Given the description of an element on the screen output the (x, y) to click on. 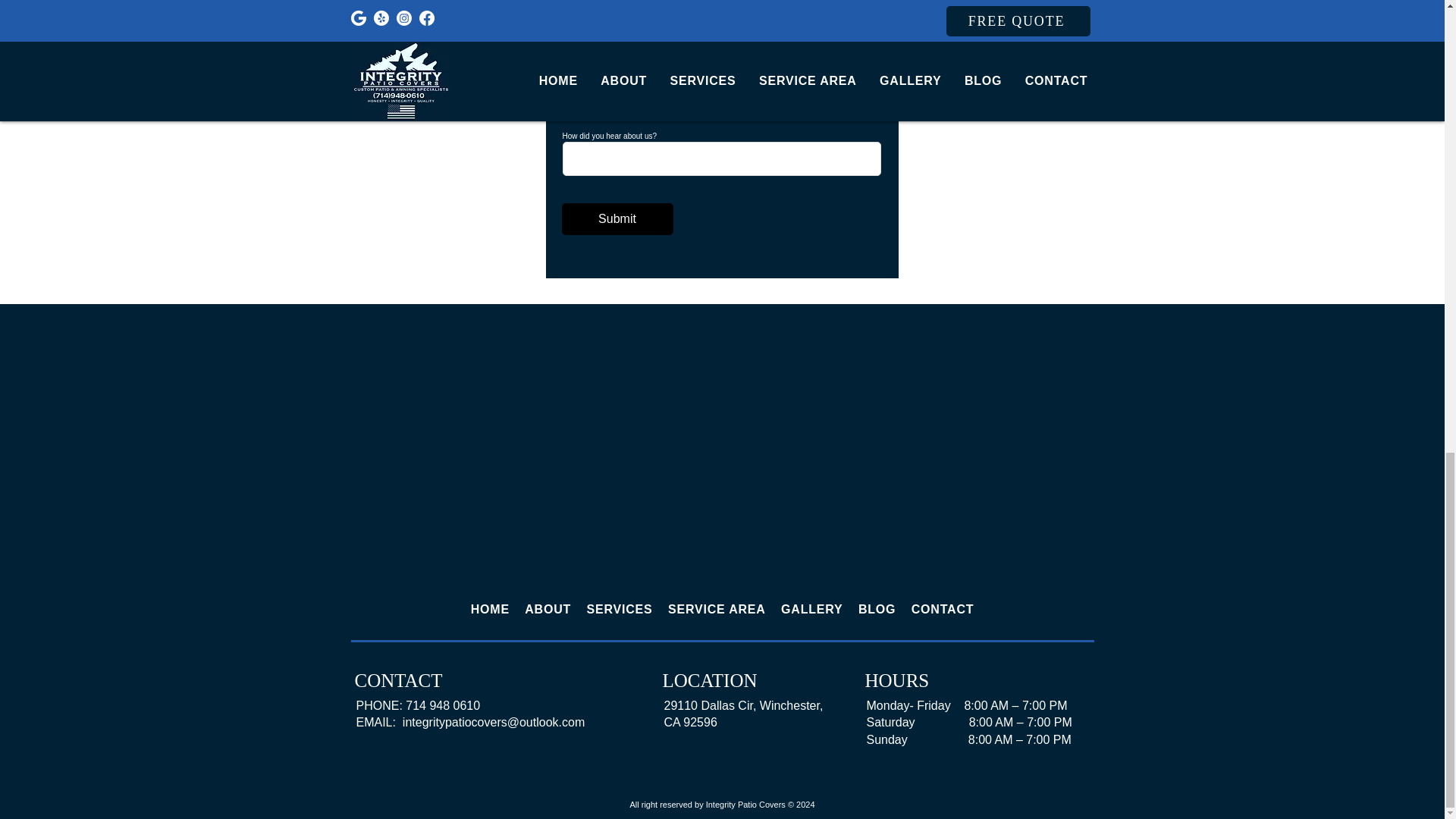
CONTACT (942, 609)
SERVICES (618, 609)
HOME (489, 609)
GALLERY (811, 609)
BLOG (877, 609)
ABOUT (547, 609)
Submit (616, 219)
